Given the description of an element on the screen output the (x, y) to click on. 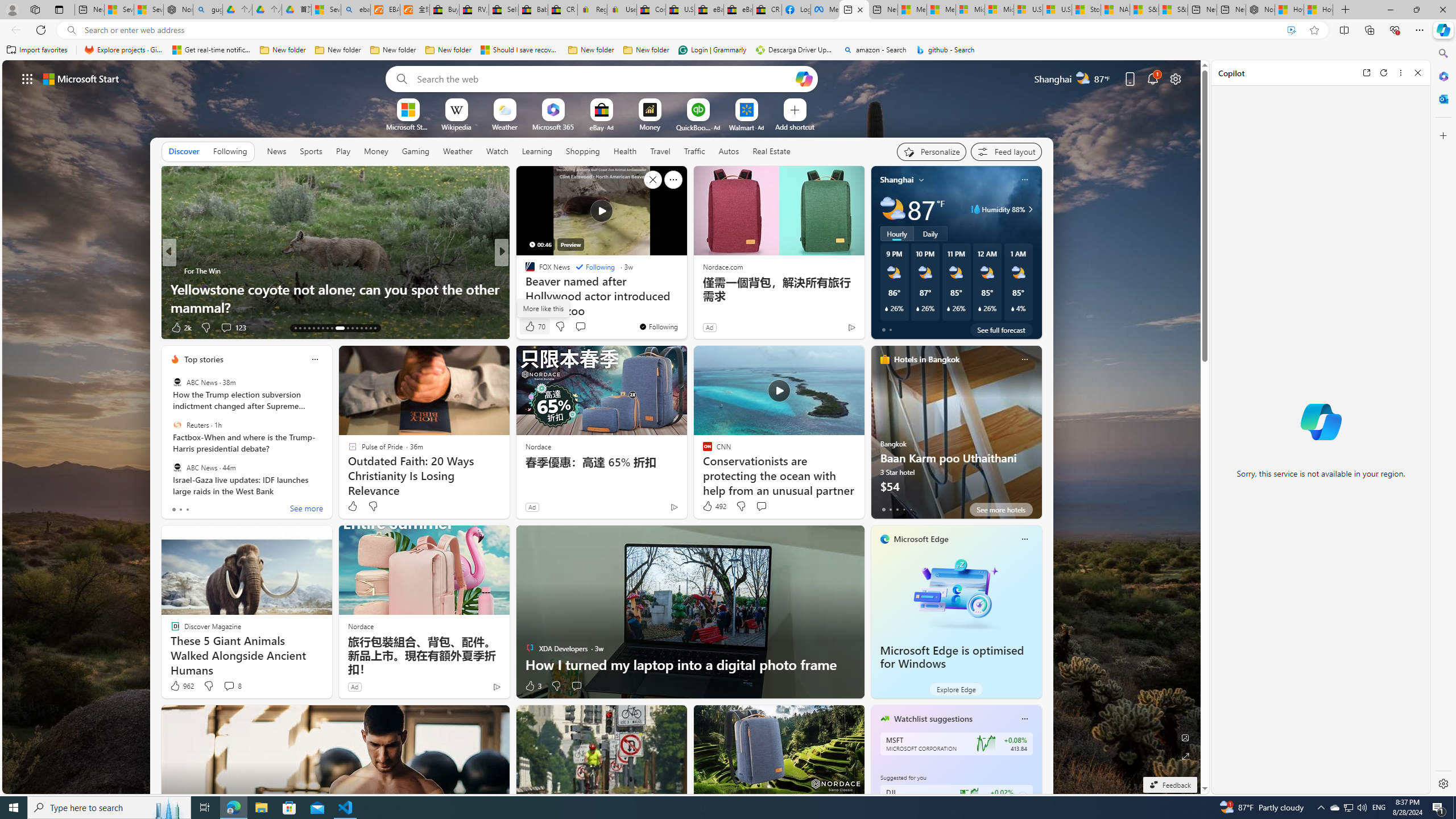
Autos (728, 151)
User Privacy Notice | eBay (622, 9)
Learning (537, 151)
See full forecast (1000, 329)
Reuters (176, 424)
AutomationID: tab-20 (327, 328)
Favorites bar (715, 49)
tab-4 (910, 509)
Import favorites (36, 49)
